Given the description of an element on the screen output the (x, y) to click on. 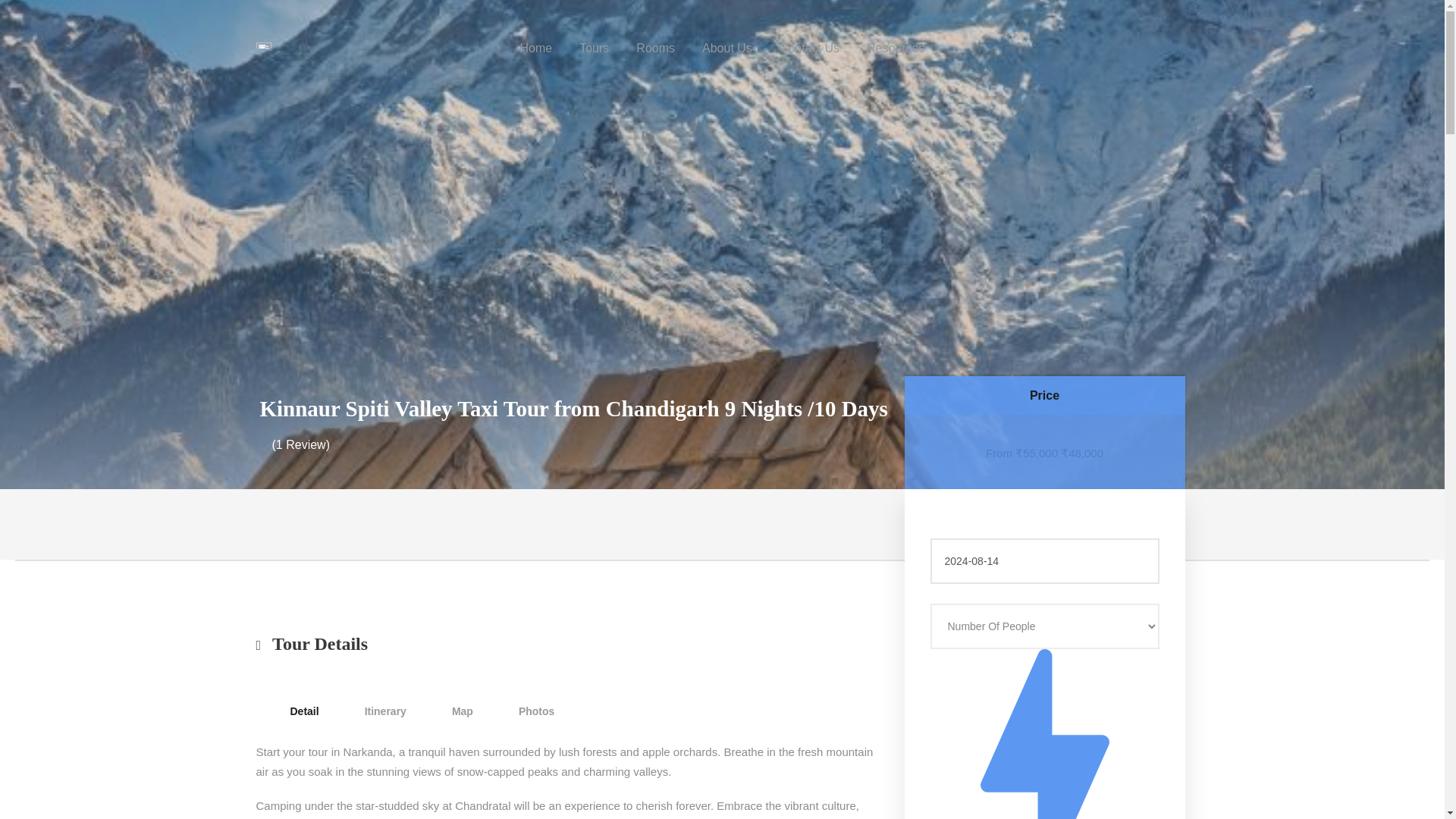
Map (462, 711)
Photos (536, 711)
Itinerary (385, 711)
About Us (726, 55)
himstay-removebg-preview-2 (263, 45)
Detail (303, 711)
2024-08-14 (1044, 560)
Resources (895, 55)
Rooms (655, 55)
Contact Us (809, 55)
